Given the description of an element on the screen output the (x, y) to click on. 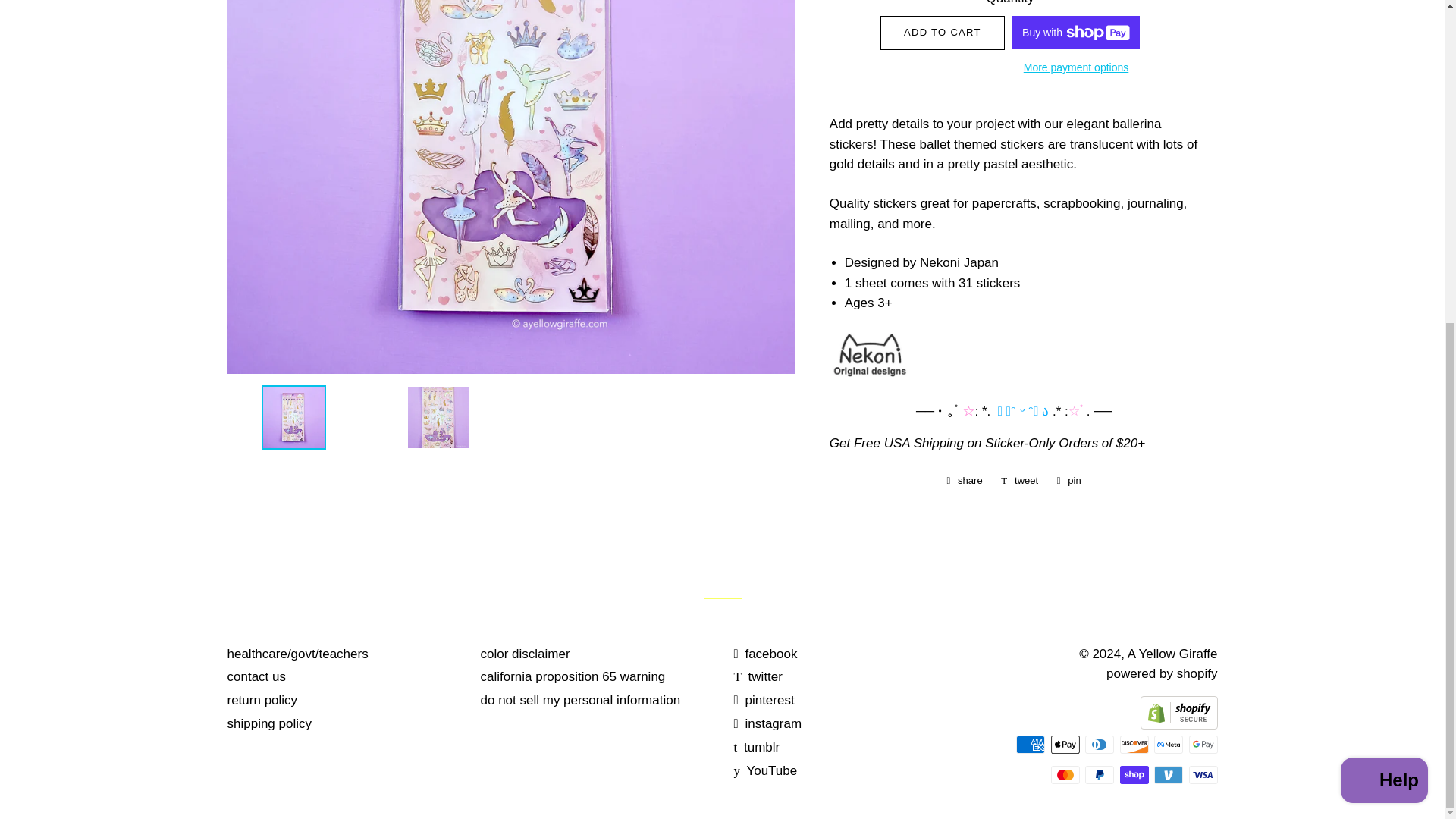
Discover (1133, 744)
A Yellow Giraffe on Twitter (758, 676)
Google Pay (1203, 744)
Venmo (1168, 774)
Visa (1203, 774)
A Yellow Giraffe on YouTube (765, 770)
Tweet on Twitter (1018, 480)
Shop Pay (1133, 774)
Shopify online store chat (1384, 255)
Share on Facebook (964, 480)
A Yellow Giraffe on Tumblr (756, 747)
PayPal (1098, 774)
Pin on Pinterest (1069, 480)
Mastercard (1065, 774)
Meta Pay (1168, 744)
